Given the description of an element on the screen output the (x, y) to click on. 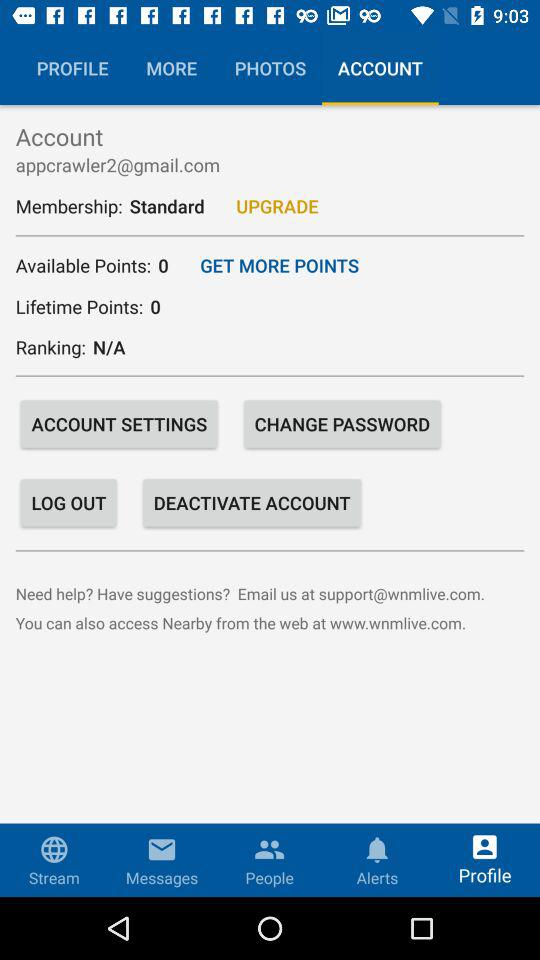
press deactivate account (252, 502)
